Given the description of an element on the screen output the (x, y) to click on. 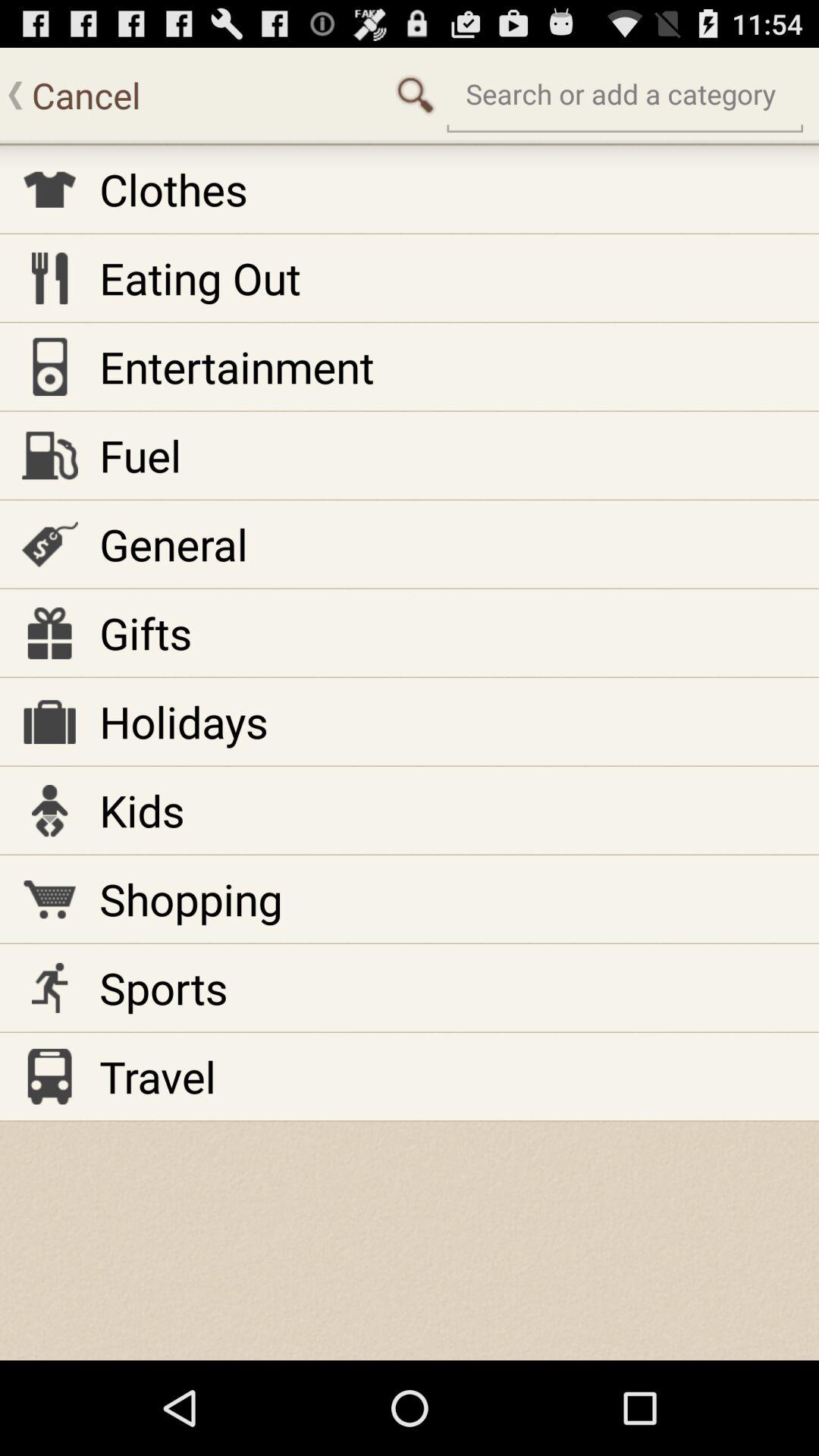
open the item below entertainment app (140, 455)
